Given the description of an element on the screen output the (x, y) to click on. 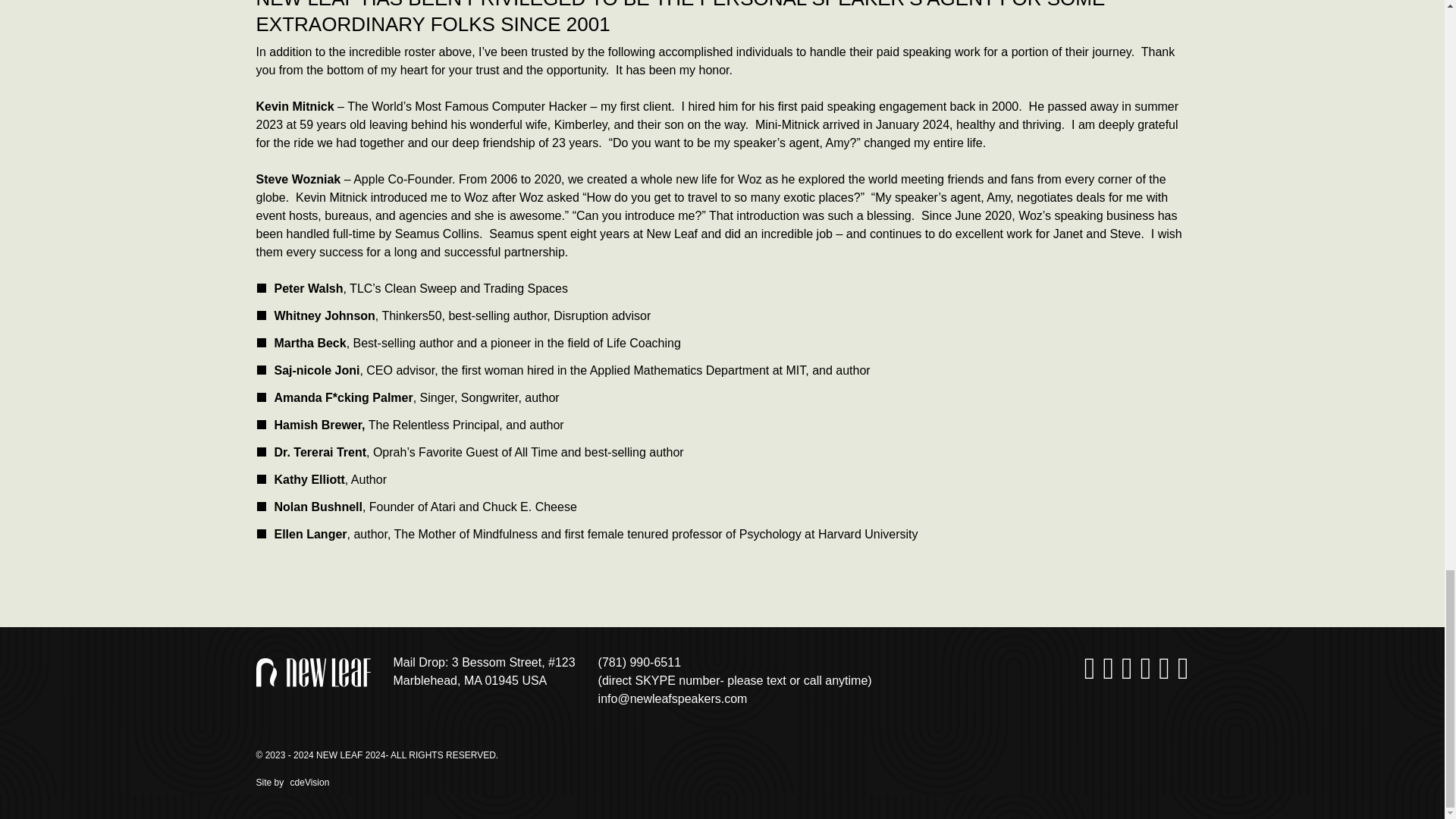
cdeVision (308, 782)
